Given the description of an element on the screen output the (x, y) to click on. 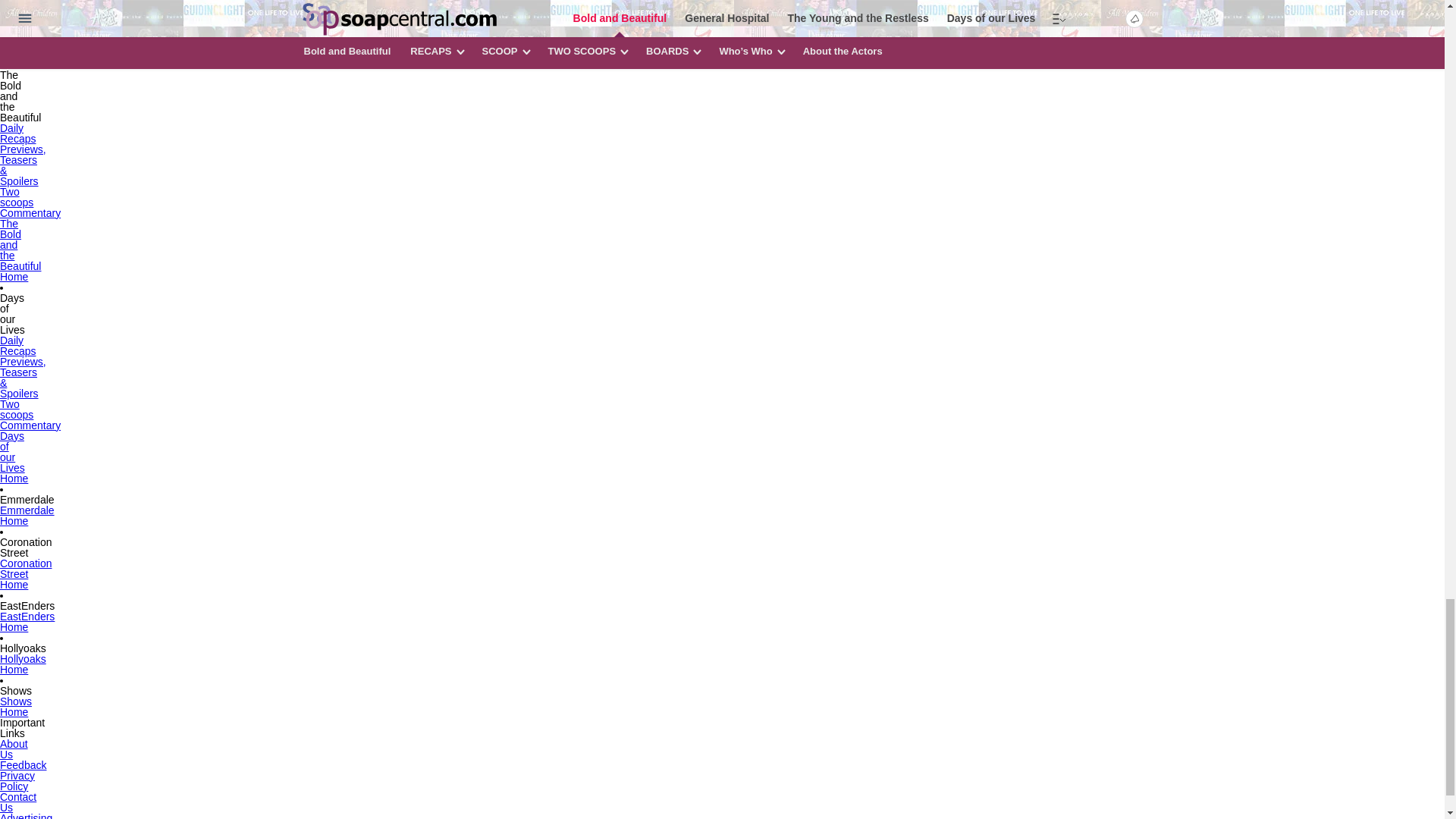
Feedback (23, 764)
Privacy Policy (17, 780)
About Us (13, 748)
Contact Us (18, 801)
Advertising Information (26, 815)
